Given the description of an element on the screen output the (x, y) to click on. 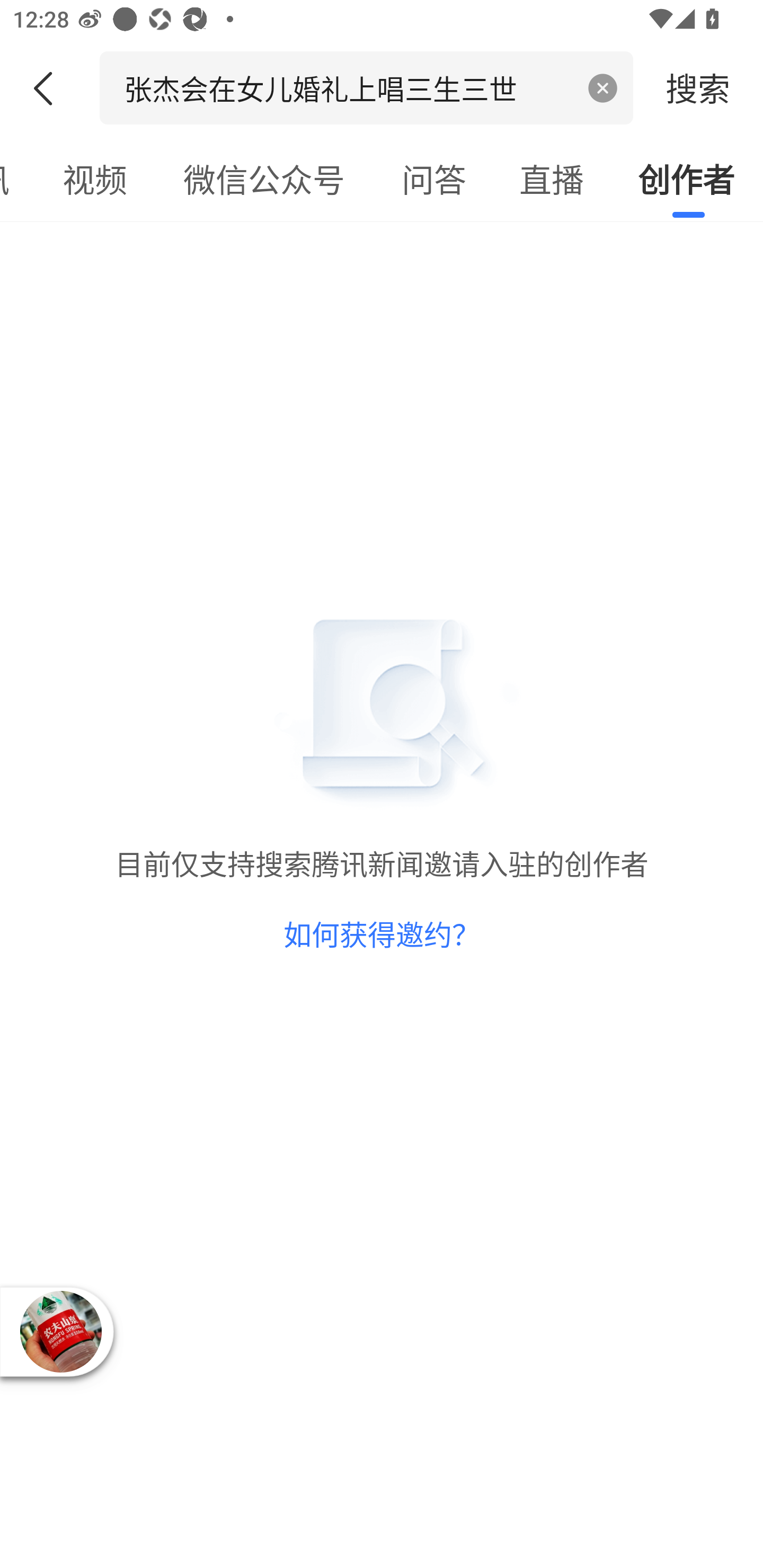
返回 (49, 87)
搜索 (698, 87)
张杰会在女儿婚礼上唱三生三世 (347, 87)
清空 (602, 88)
视频，可选中 (94, 179)
微信公众号，可选中 (264, 179)
问答，可选中 (433, 179)
直播，可选中 (551, 179)
已选中创作者 (686, 179)
播放器 (60, 1331)
